Given the description of an element on the screen output the (x, y) to click on. 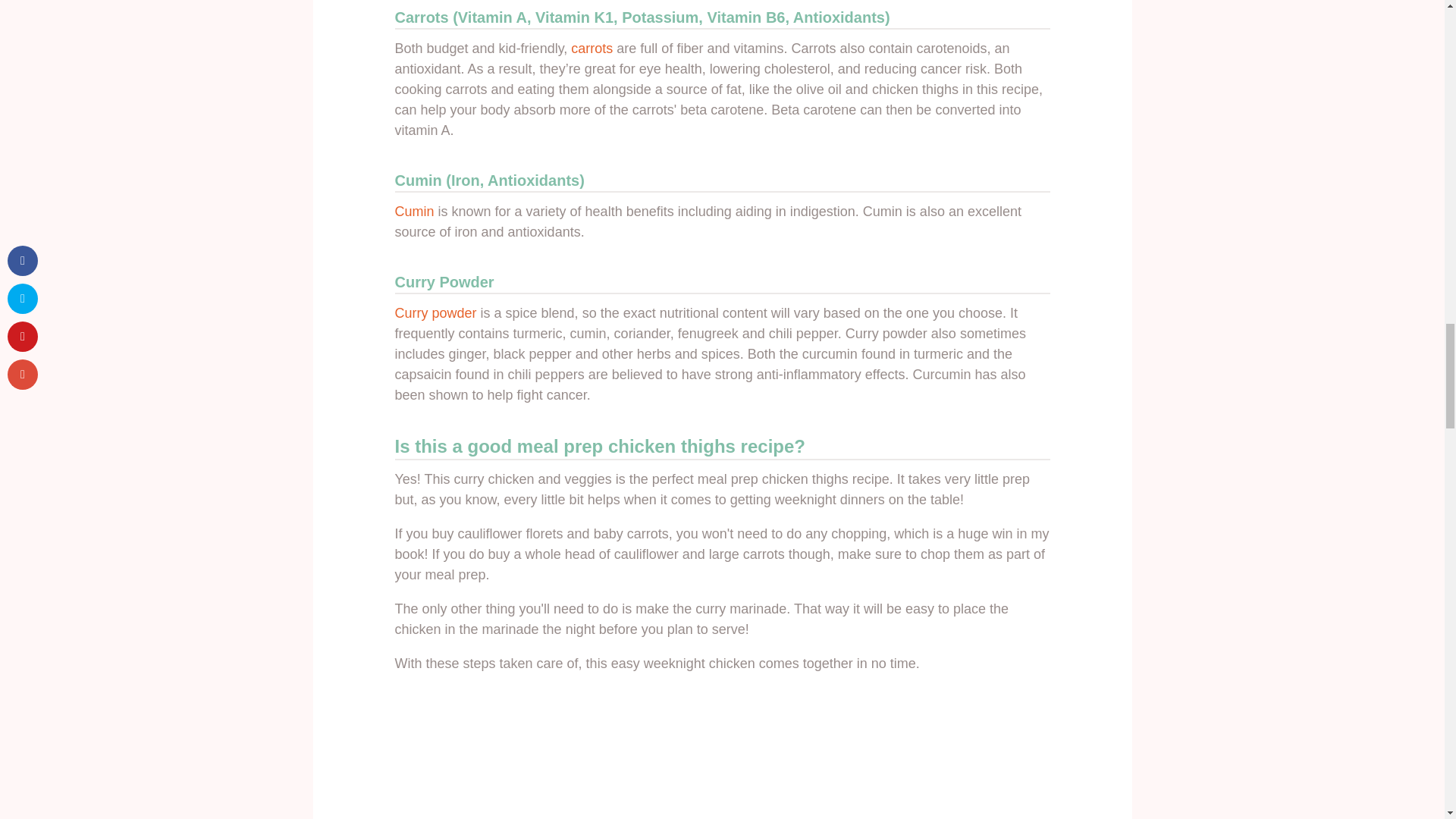
Cumin (413, 211)
Curry powder (435, 313)
carrots (591, 48)
